Given the description of an element on the screen output the (x, y) to click on. 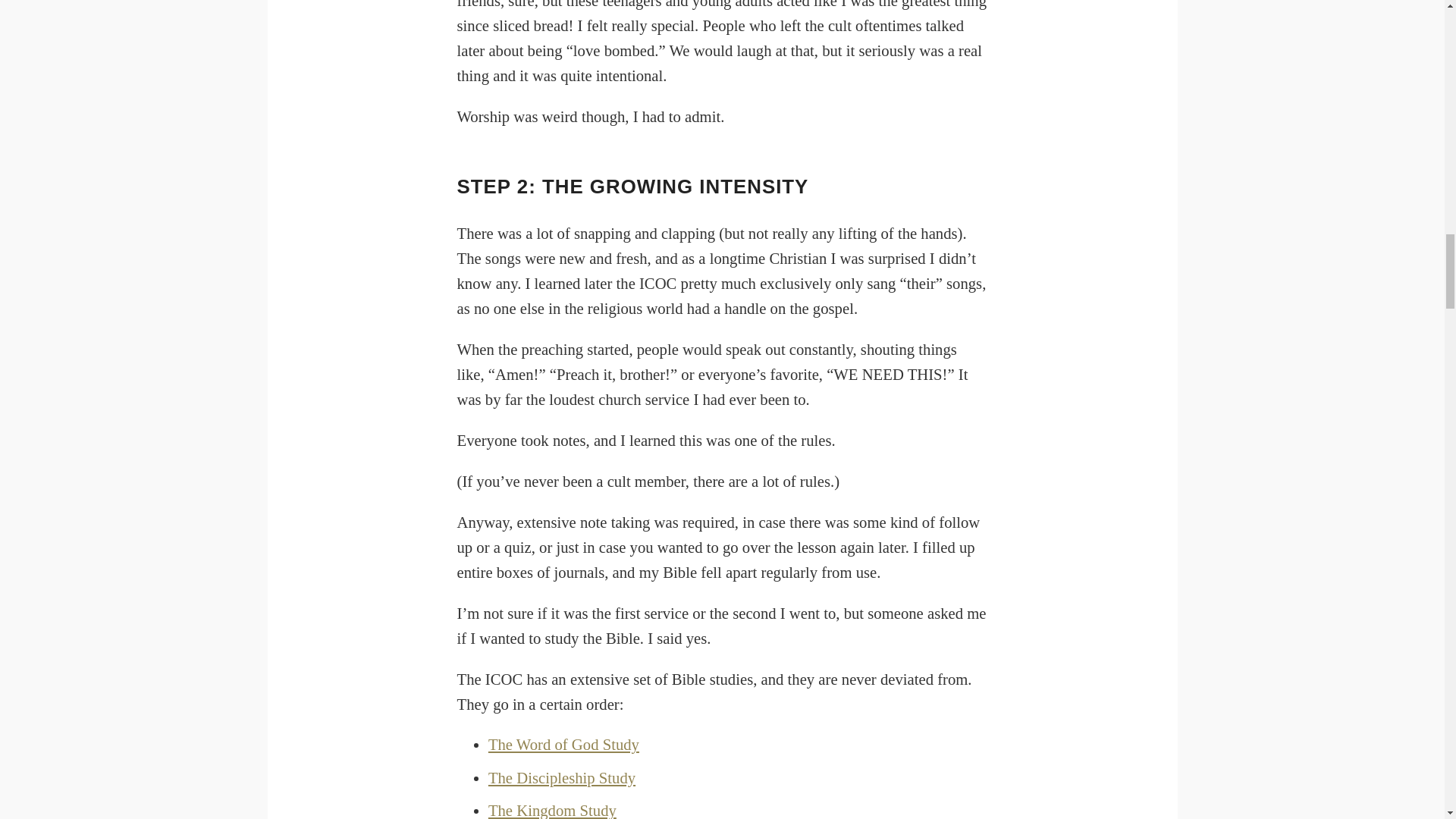
The Kingdom Study (551, 810)
The Discipleship Study (560, 777)
The Word of God Study (563, 744)
